Given the description of an element on the screen output the (x, y) to click on. 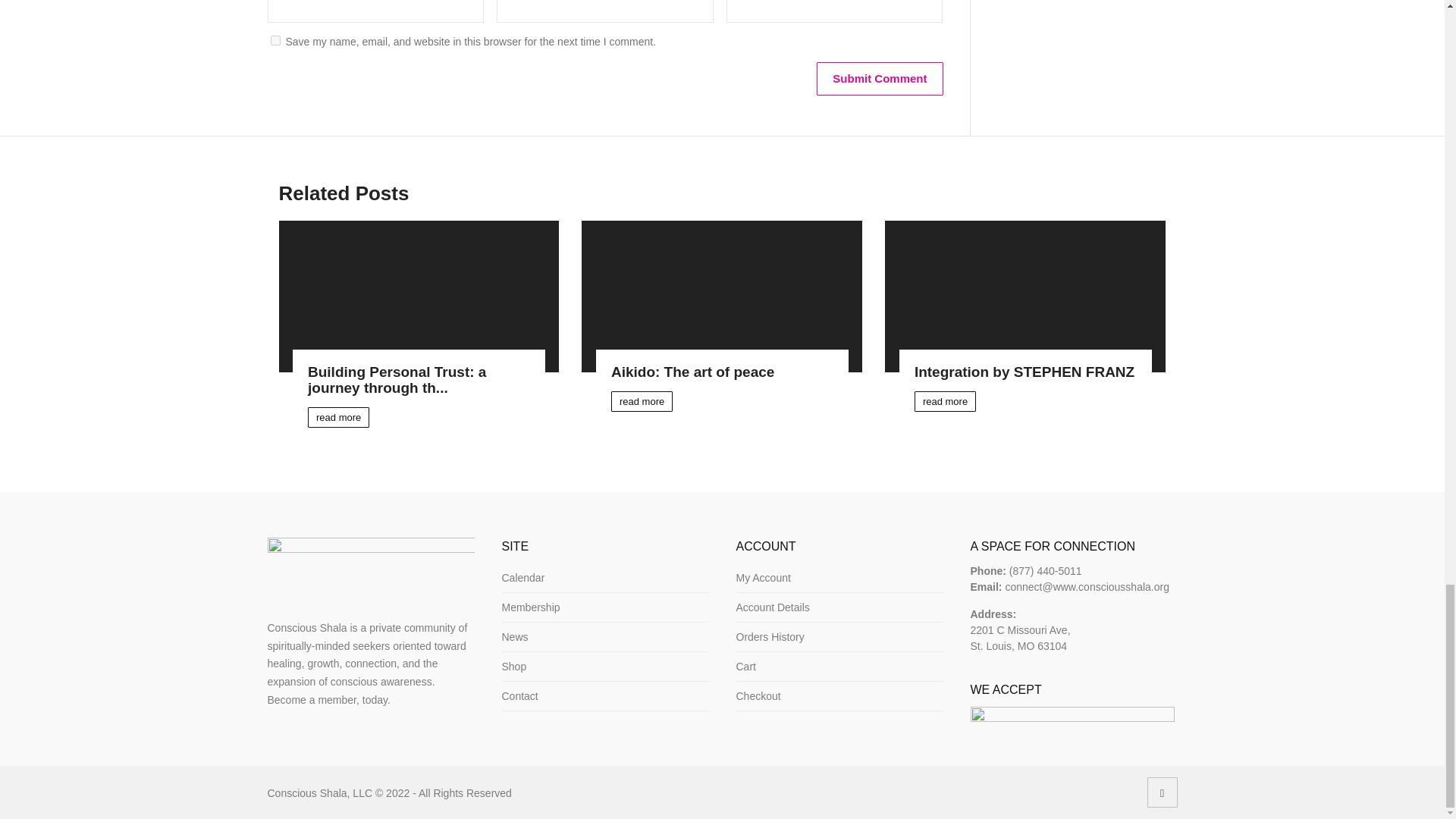
yes (274, 40)
Payment accept (1072, 717)
Submit Comment (879, 79)
Submit Comment (879, 79)
